Given the description of an element on the screen output the (x, y) to click on. 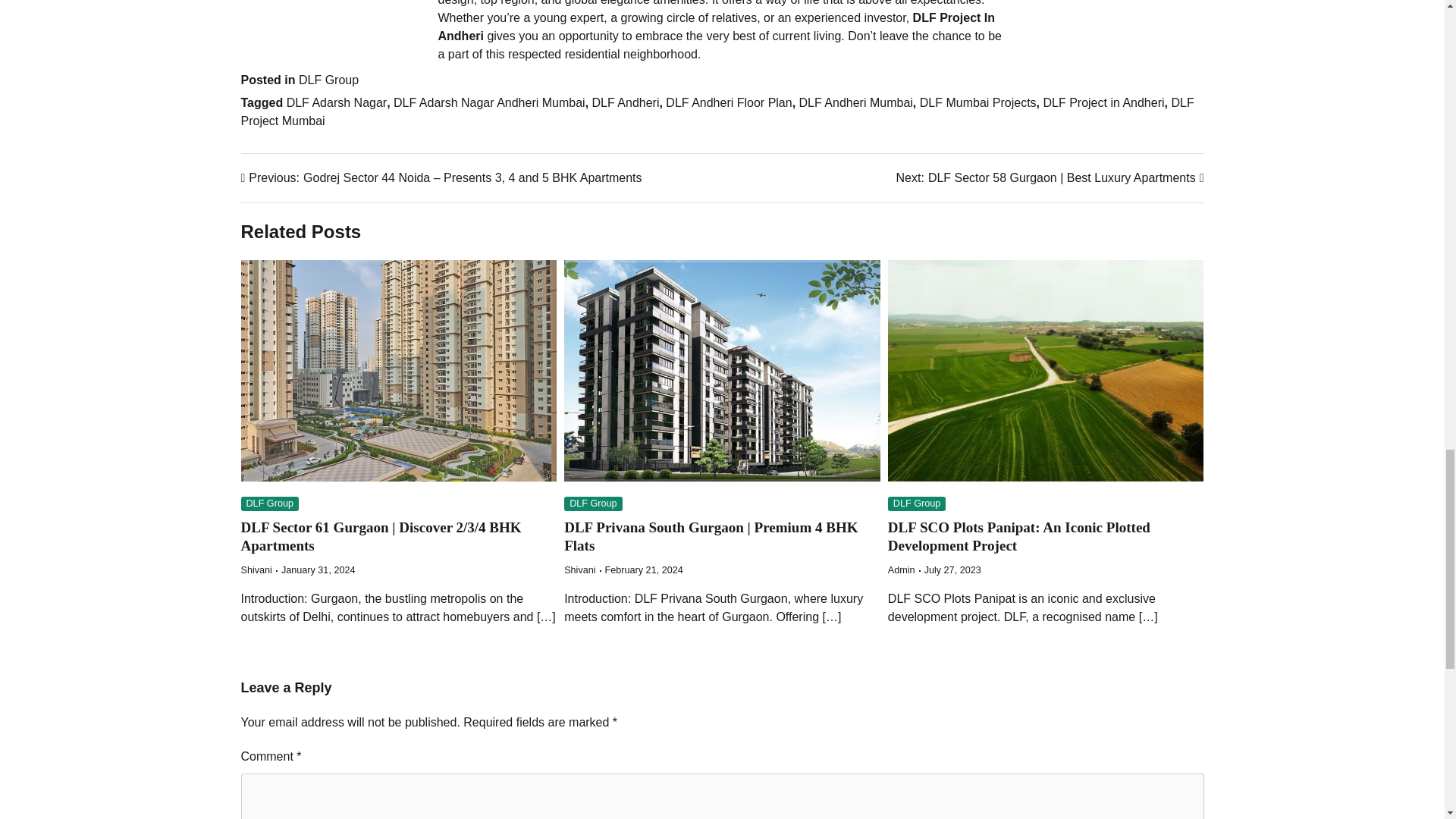
DLF Group (592, 503)
DLF Andheri Floor Plan (728, 102)
DLF Andheri Mumbai (855, 102)
DLF Project Mumbai (717, 111)
DLF Adarsh Nagar Andheri Mumbai (489, 102)
Admin (901, 570)
DLF Andheri (625, 102)
DLF Group (269, 503)
Shivani (579, 570)
DLF Adarsh Nagar (336, 102)
DLF Project in Andheri (1102, 102)
DLF Group (916, 503)
DLF Group (328, 79)
DLF Mumbai Projects (978, 102)
Shivani (256, 570)
